Given the description of an element on the screen output the (x, y) to click on. 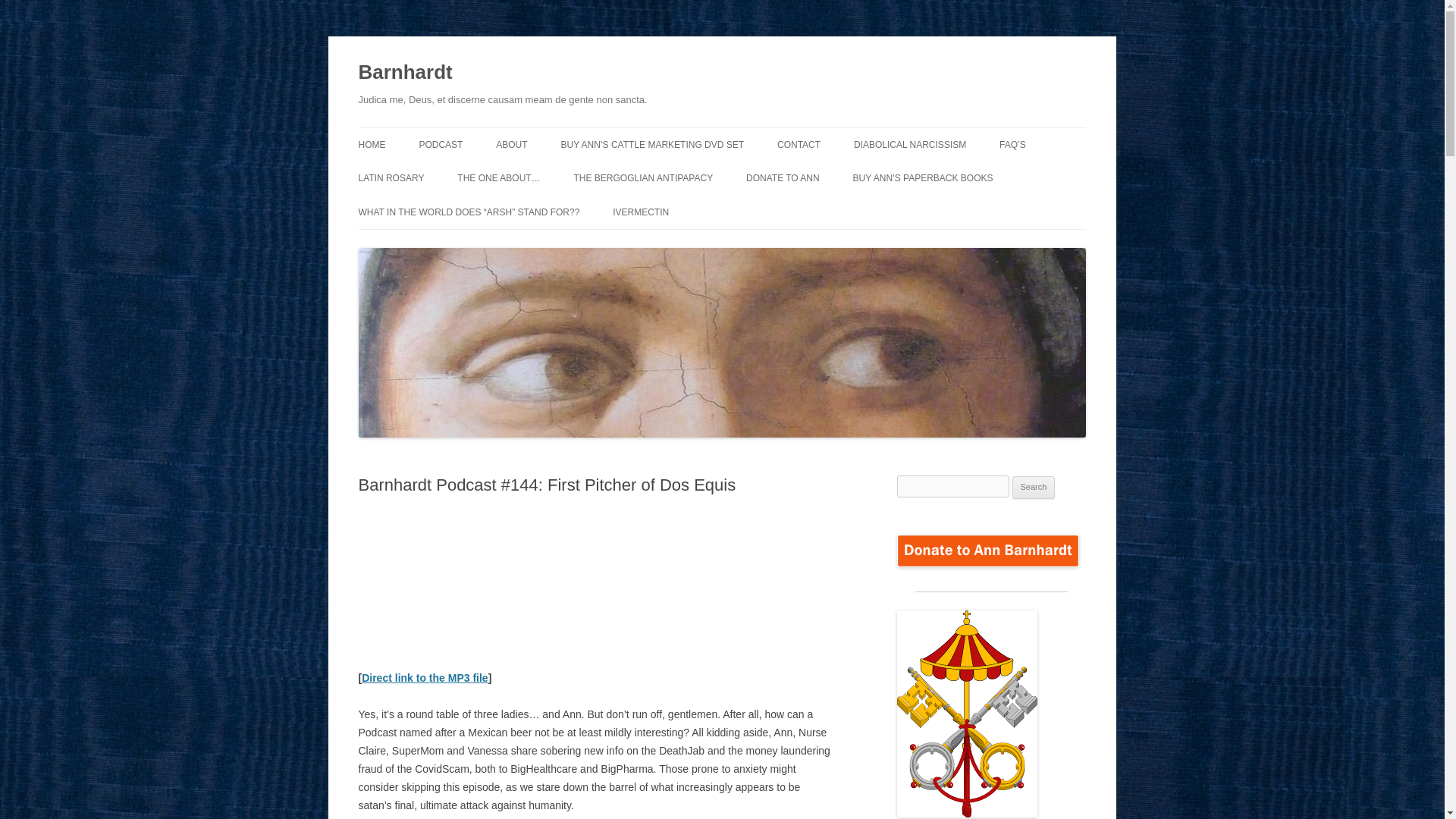
HOME (371, 144)
Search (1033, 486)
THE BERGOGLIAN ANTIPAPACY (643, 177)
Direct link to the MP3 file (424, 677)
IVERMECTIN (640, 212)
DONATE TO ANN (782, 177)
CONTACT (799, 144)
Barnhardt (404, 72)
LATIN ROSARY (390, 177)
Barnhardt (404, 72)
ABOUT (511, 144)
DIABOLICAL NARCISSISM (909, 144)
PODCAST (441, 144)
